Given the description of an element on the screen output the (x, y) to click on. 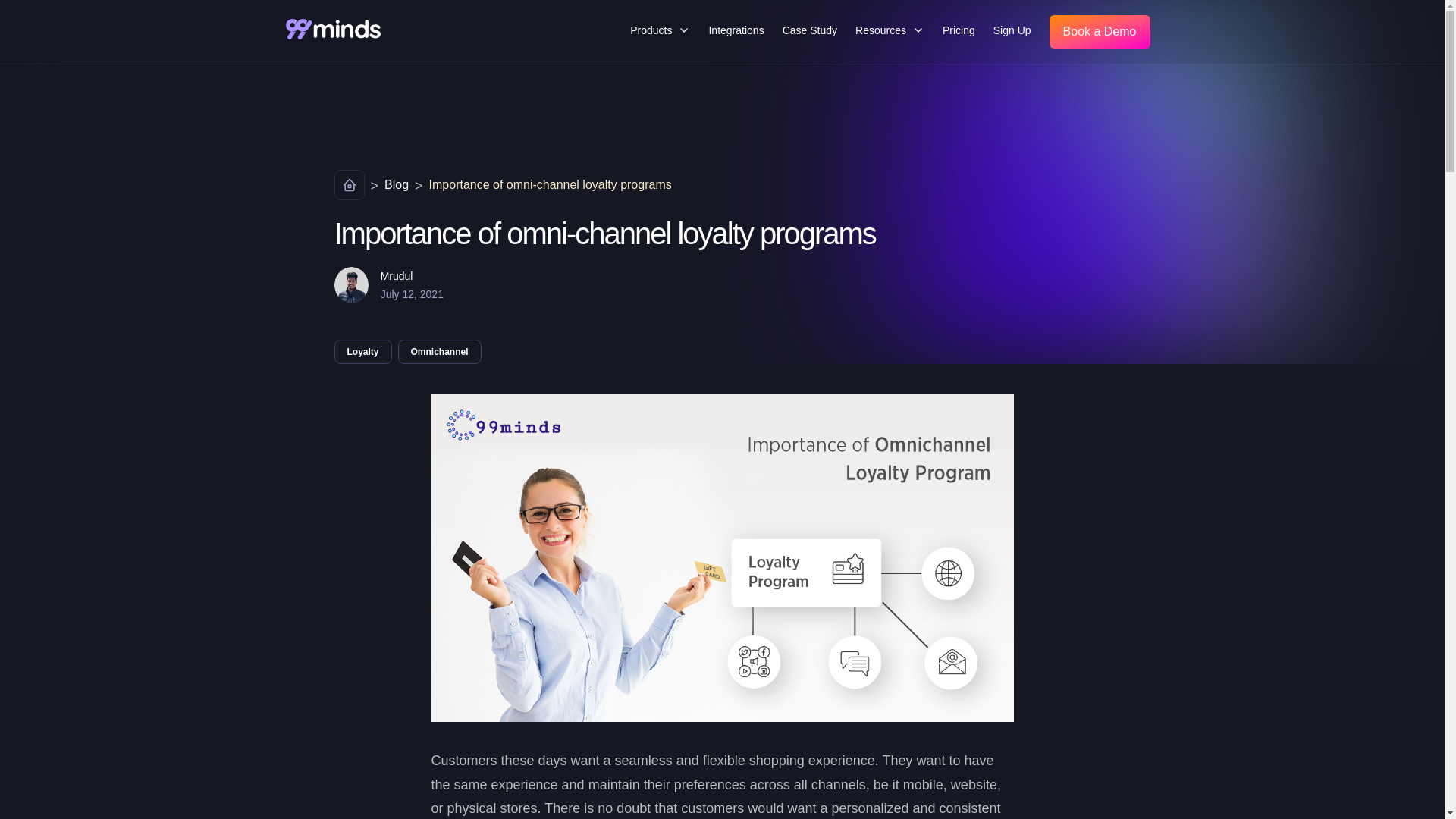
Products (659, 30)
Importance of omni-channel loyalty programs (550, 187)
Case Study (809, 30)
Blog (396, 187)
Integrations (735, 30)
Omnichannel (439, 351)
Book a Demo (1099, 31)
Pricing (958, 30)
Loyalty (362, 351)
Sign Up (1012, 30)
